Given the description of an element on the screen output the (x, y) to click on. 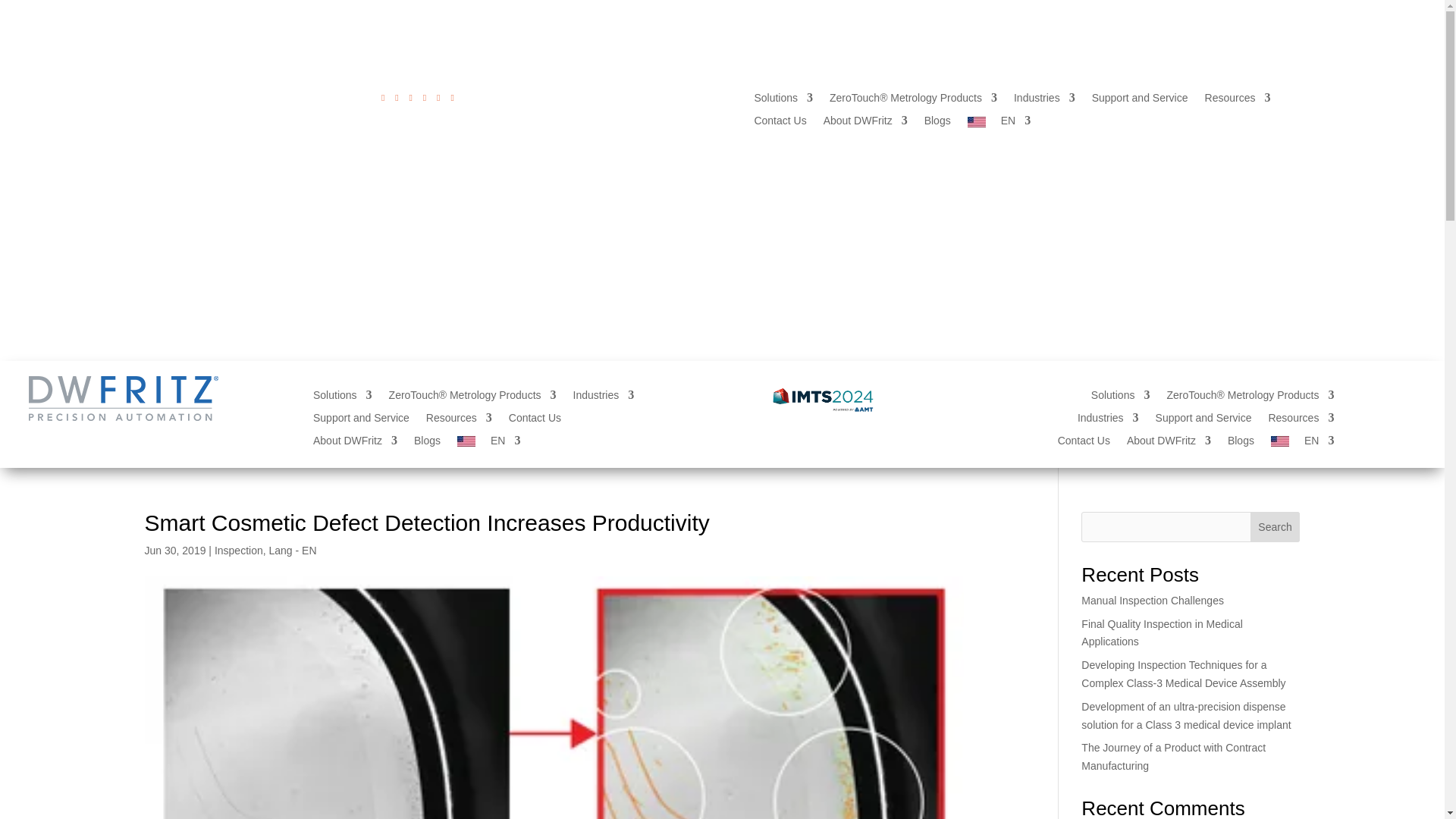
Contact Us (780, 123)
Industries (1044, 100)
EN (999, 123)
DWFritz Automation LLC (123, 397)
Resources (1238, 100)
Solutions (783, 100)
Support and Service (1140, 100)
Blogs (937, 123)
About DWFritz (865, 123)
